Given the description of an element on the screen output the (x, y) to click on. 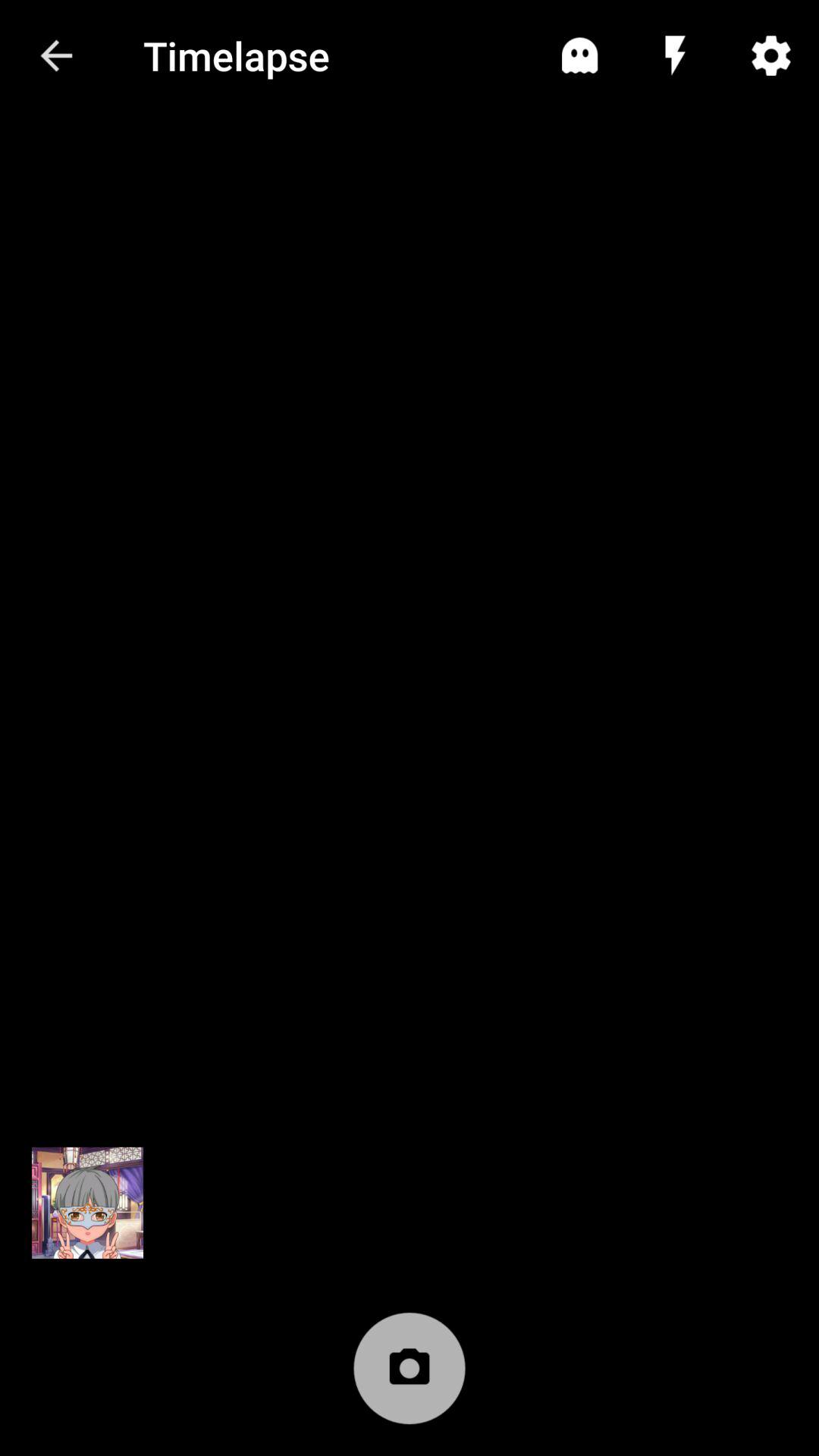
turn off icon at the bottom left corner (87, 1202)
